Given the description of an element on the screen output the (x, y) to click on. 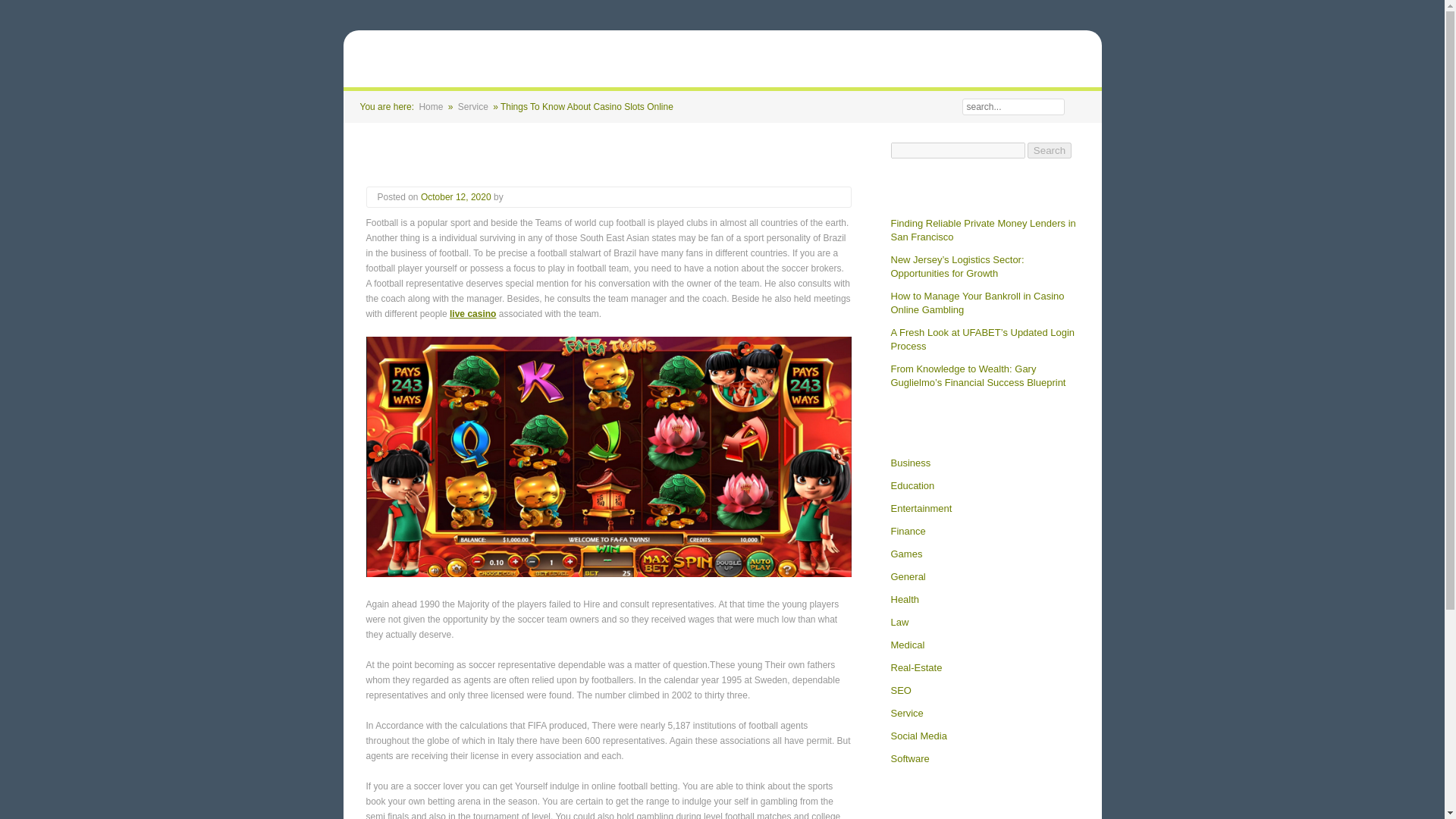
Law (898, 622)
Real-Estate (915, 667)
Finance (906, 531)
Home (430, 106)
Education (911, 486)
SEO (900, 690)
Health (903, 599)
Software (908, 758)
General (906, 576)
Service (906, 713)
